Given the description of an element on the screen output the (x, y) to click on. 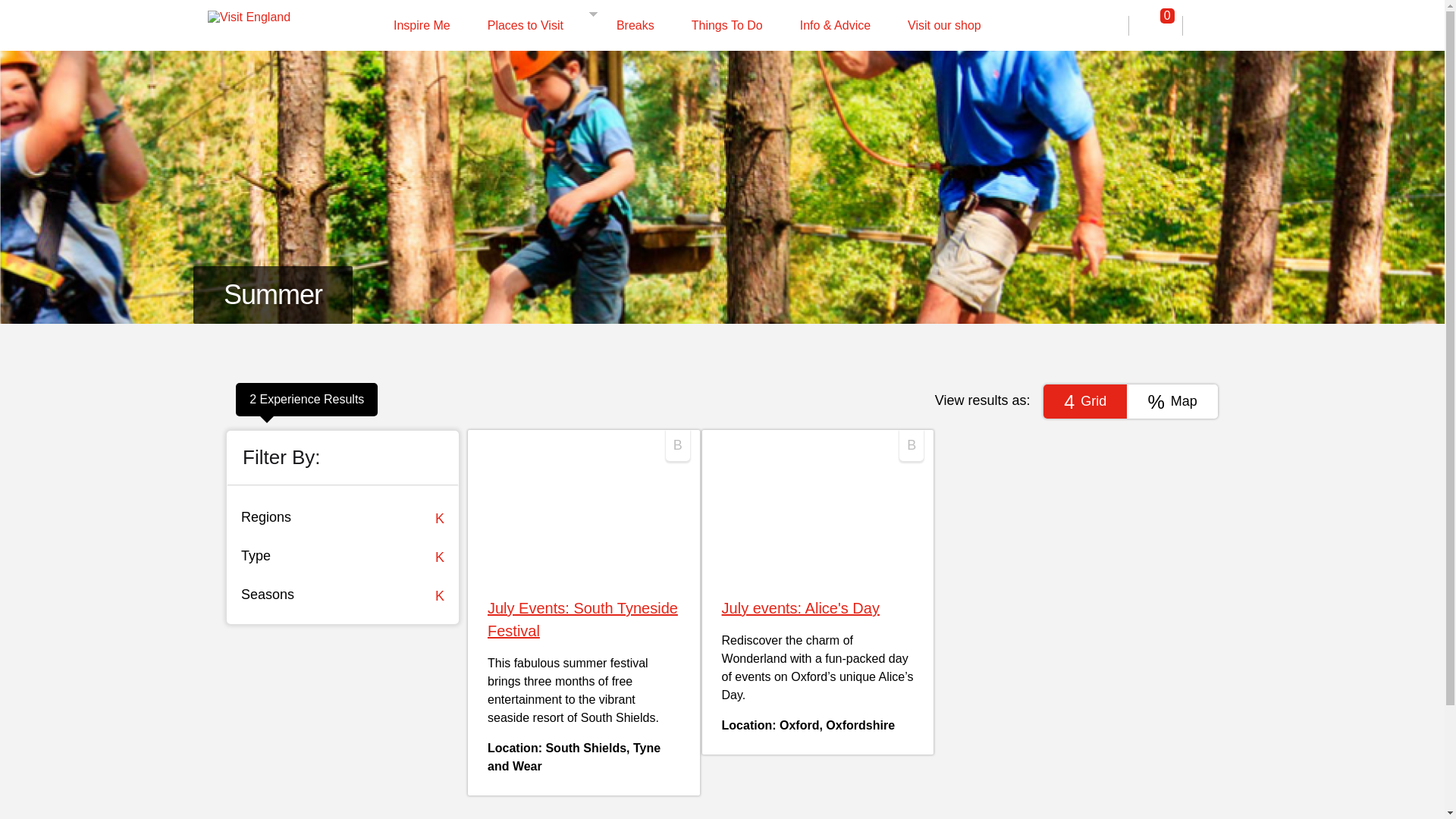
More (594, 12)
Places to Visit (530, 25)
Inspire Me (427, 25)
